Given the description of an element on the screen output the (x, y) to click on. 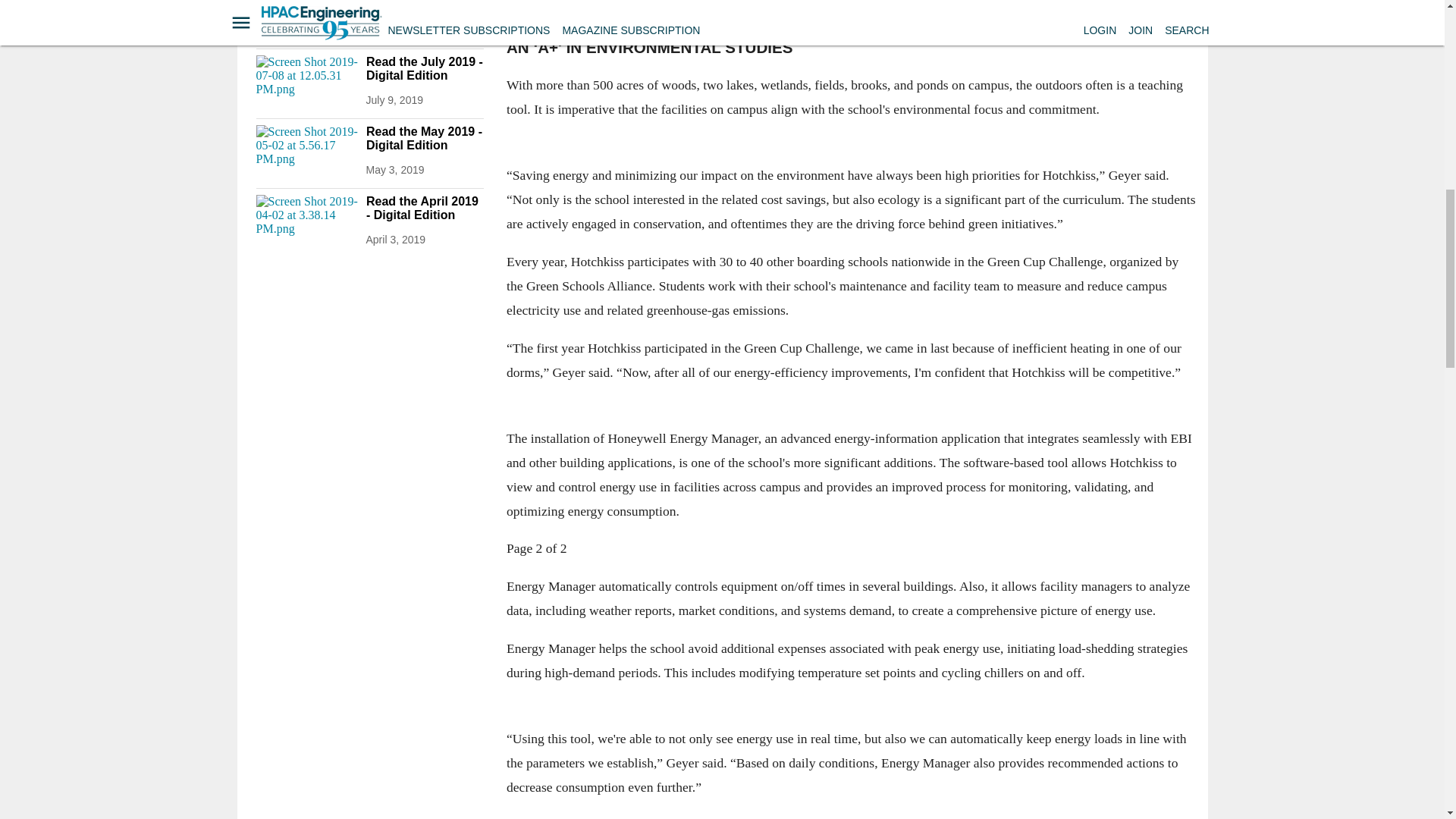
Screen Shot 2019-08-01 at 10.50.46 AM.png (307, 17)
Screen Shot 2019-04-02 at 3.38.14 PM.png (307, 222)
Screen Shot 2019-05-02 at 5.56.17 PM.png (307, 153)
Screen Shot 2019-07-08 at 12.05.31 PM.png (307, 83)
